Given the description of an element on the screen output the (x, y) to click on. 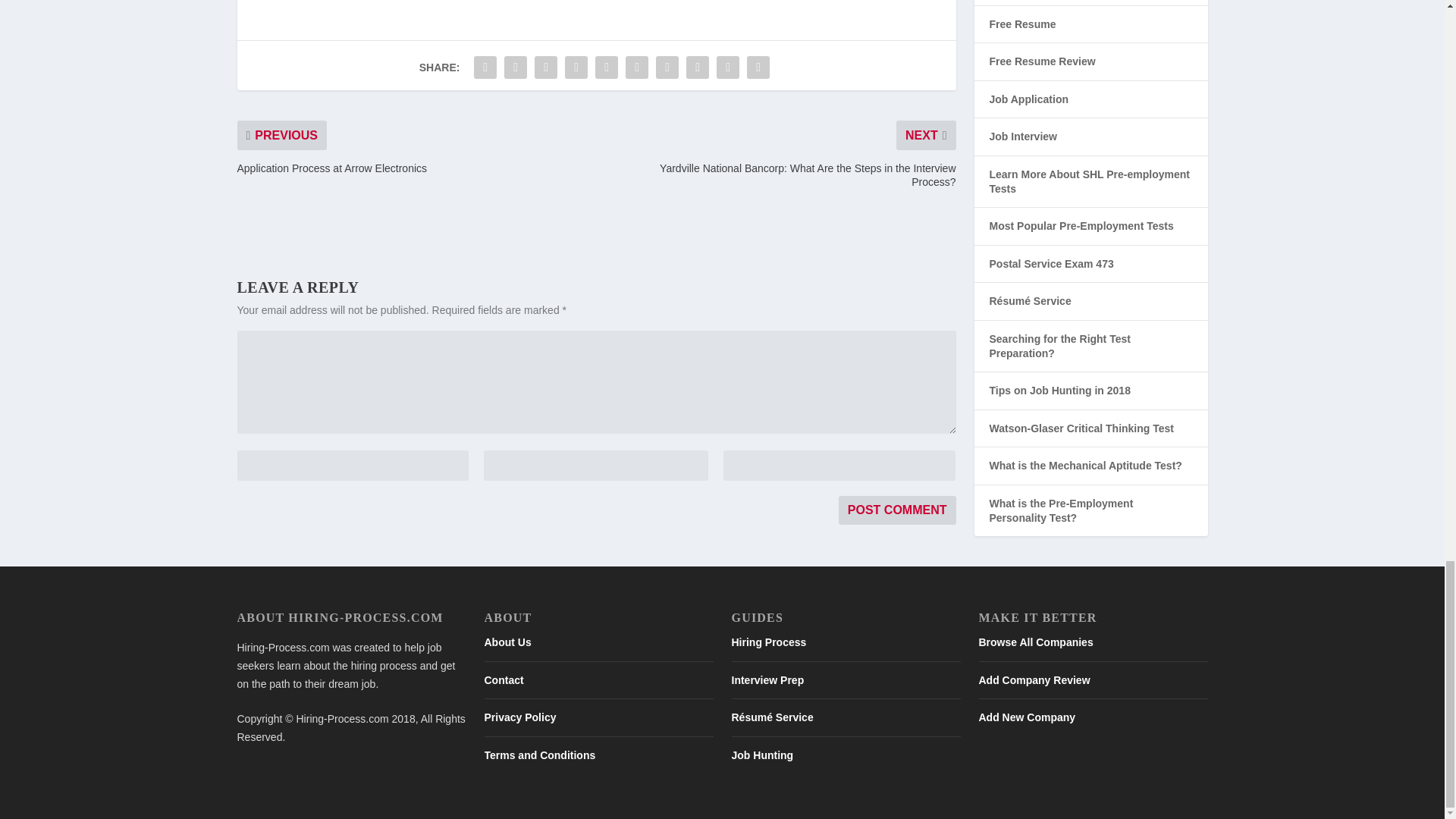
Share "Looking for a Job at Hughes Supply?" via Print (757, 67)
Share "Looking for a Job at Hughes Supply?" via Email (727, 67)
Share "Looking for a Job at Hughes Supply?" via LinkedIn (636, 67)
Share "Looking for a Job at Hughes Supply?" via Pinterest (606, 67)
Share "Looking for a Job at Hughes Supply?" via Buffer (667, 67)
Post Comment (897, 510)
Share "Looking for a Job at Hughes Supply?" via Facebook (485, 67)
Share "Looking for a Job at Hughes Supply?" via Tumblr (575, 67)
Share "Looking for a Job at Hughes Supply?" via Twitter (515, 67)
Share "Looking for a Job at Hughes Supply?" via Stumbleupon (697, 67)
